Given the description of an element on the screen output the (x, y) to click on. 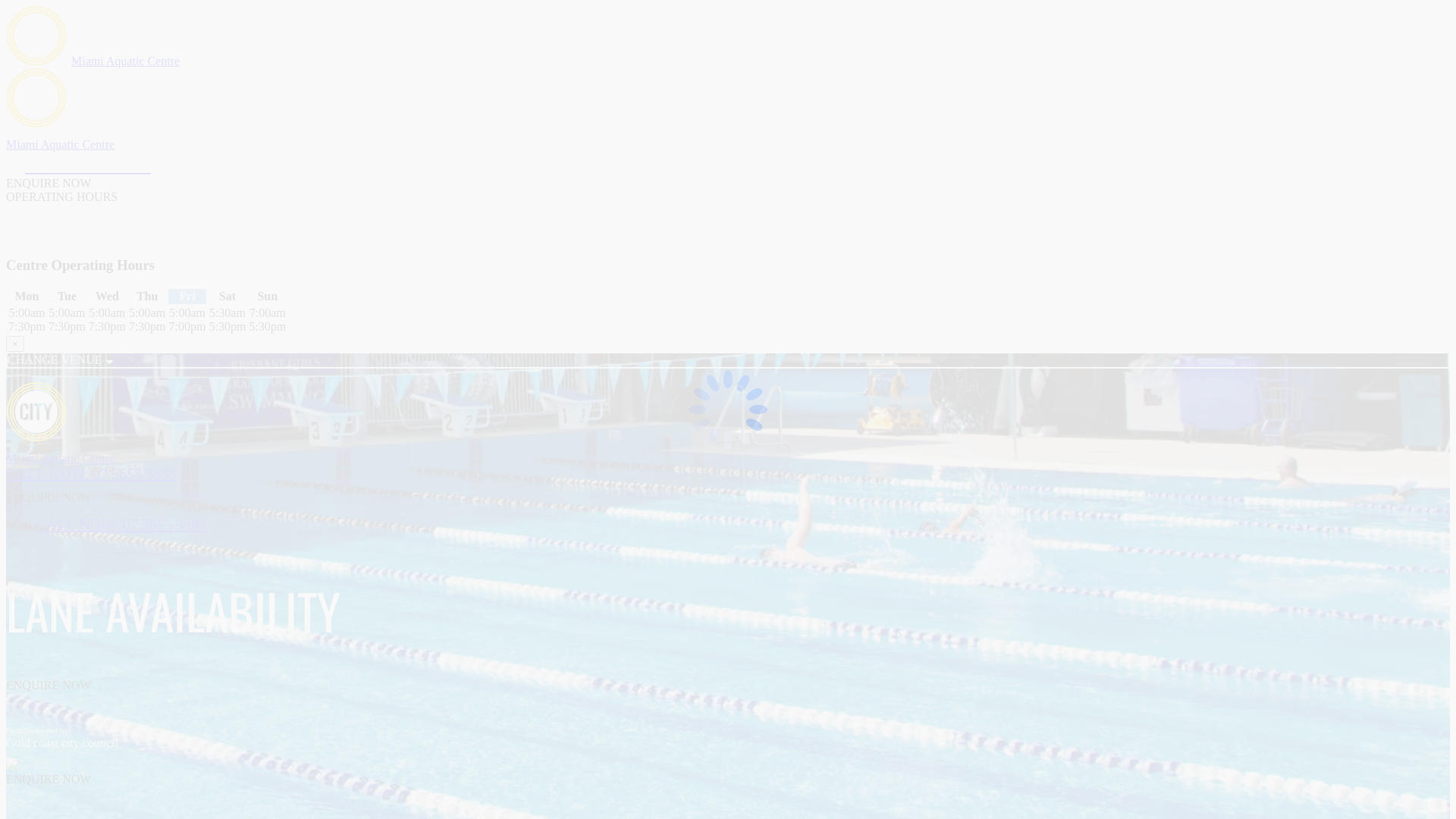
Miami Aquatic Centre Element type: text (125, 60)
CALL NOW: 07 5655 3383 Element type: text (121, 524)
CALL NOW: 07 5655 3383 Element type: text (90, 473)
Miami Aquatic Centre Element type: text (60, 144)
Click here to view public lane swimming hours for this venue Element type: text (144, 235)
07 5655 3383 Element type: text (78, 163)
Miami Aquatic Centre Element type: text (60, 457)
